Given the description of an element on the screen output the (x, y) to click on. 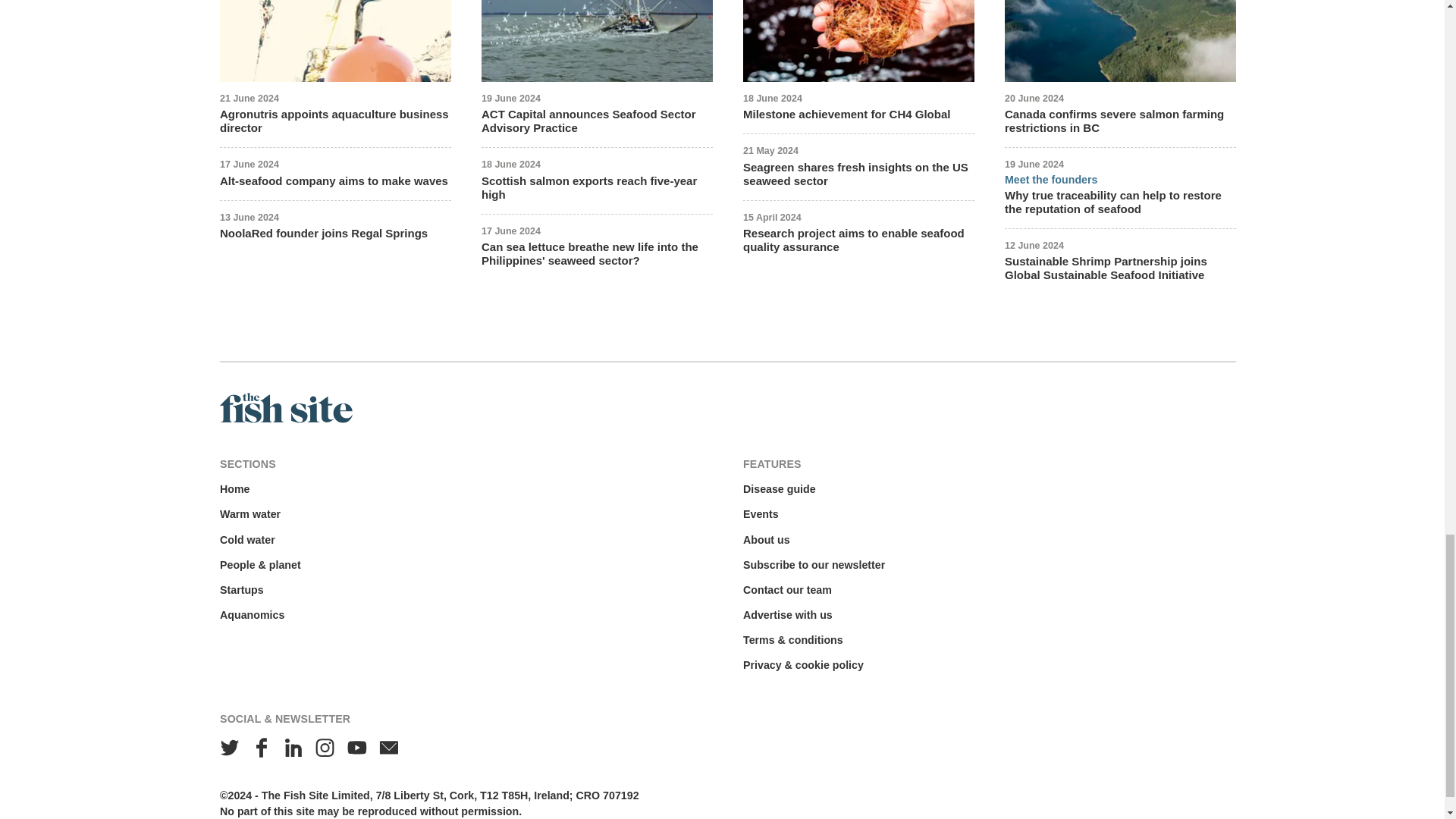
Facebook (261, 747)
Advertise with us (787, 615)
Return to The Fish Site homepage (285, 419)
LinkedIn (293, 747)
Instagram (325, 747)
Twitter (229, 747)
